Given the description of an element on the screen output the (x, y) to click on. 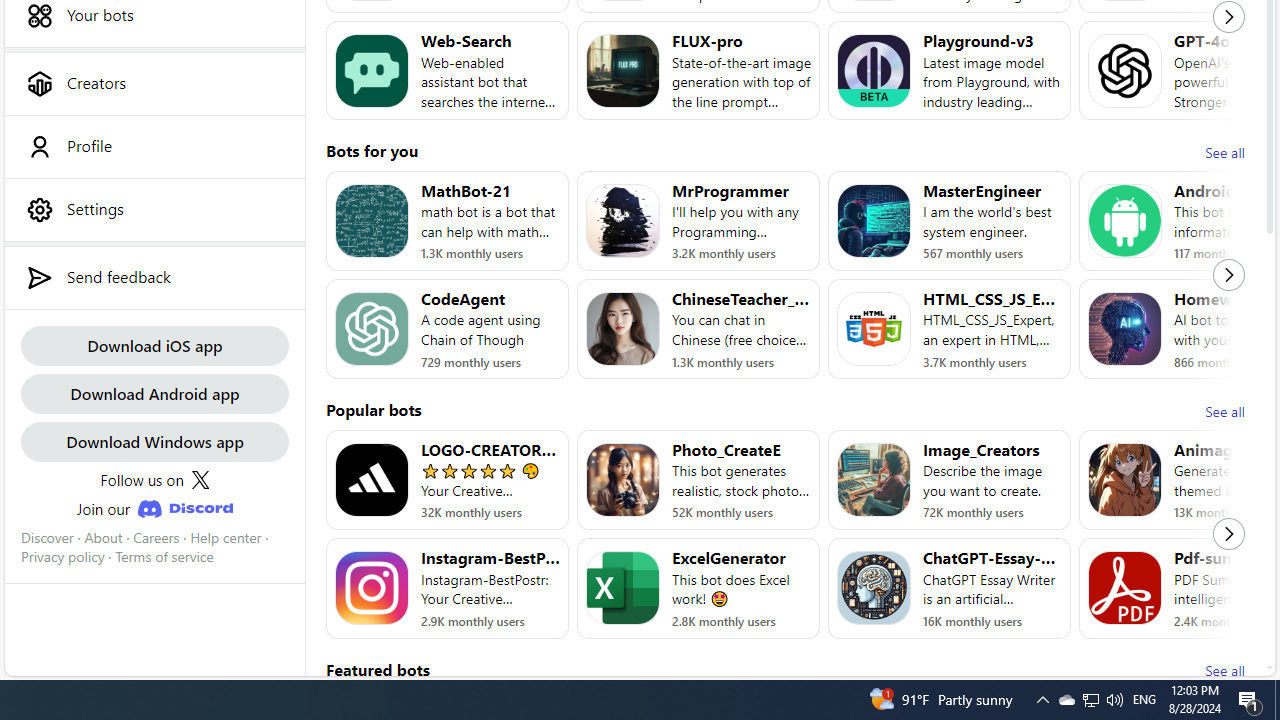
Join our (154, 508)
Help center (225, 537)
Privacy policy (62, 557)
Bot image for FLUX-pro (623, 70)
Follow us on (154, 479)
Bot image for AnimagineXL (1124, 480)
Bot image for Homeworkbot679 (1124, 329)
Class: FollowTwitterLink_twitterIconBlack__SS_7V (199, 480)
